Given the description of an element on the screen output the (x, y) to click on. 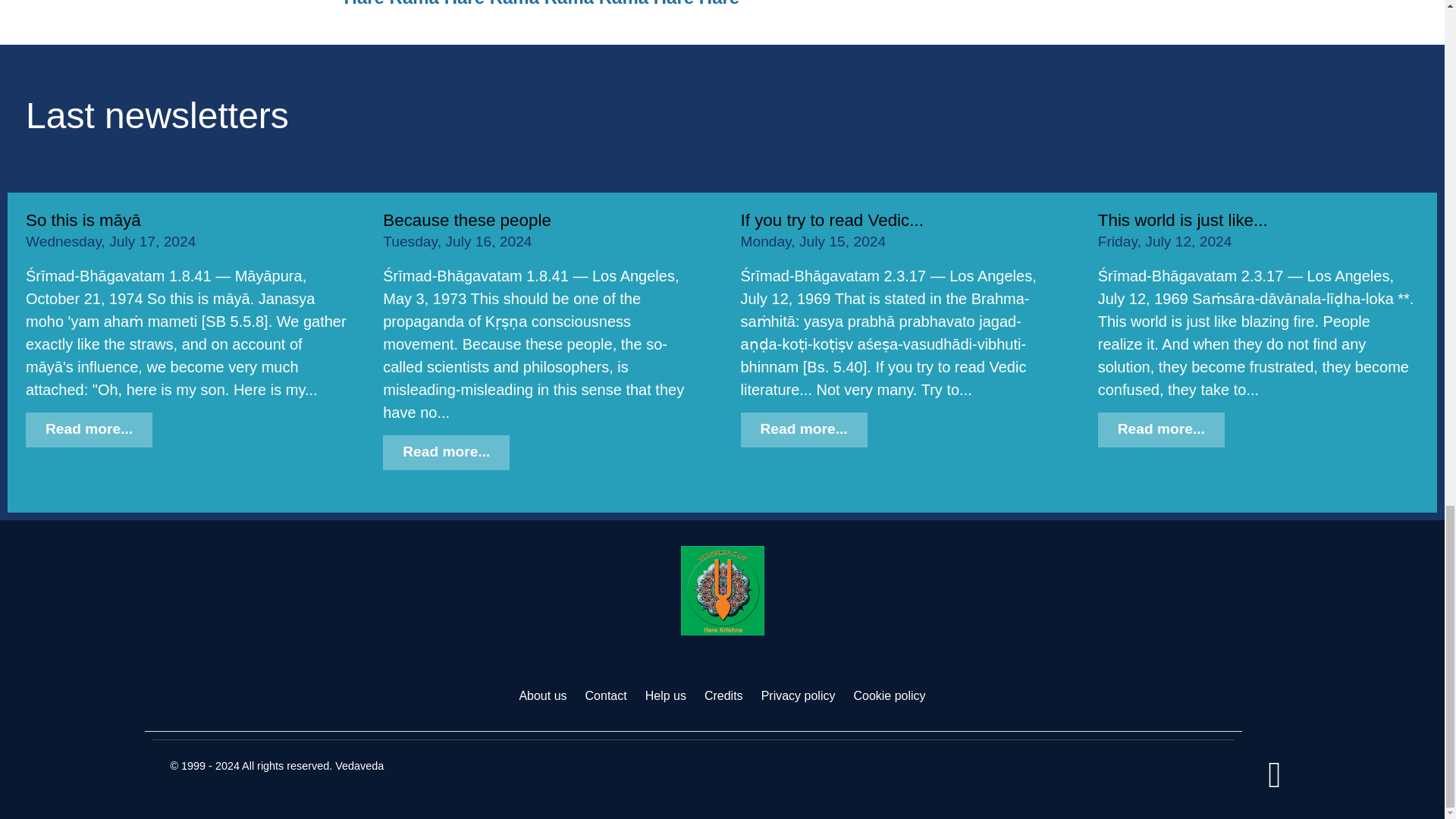
About us (542, 695)
Privacy policy (798, 695)
Haut de page (1274, 782)
Credits (723, 695)
Cookie policy (888, 695)
Contact (606, 695)
Help us (665, 695)
